Given the description of an element on the screen output the (x, y) to click on. 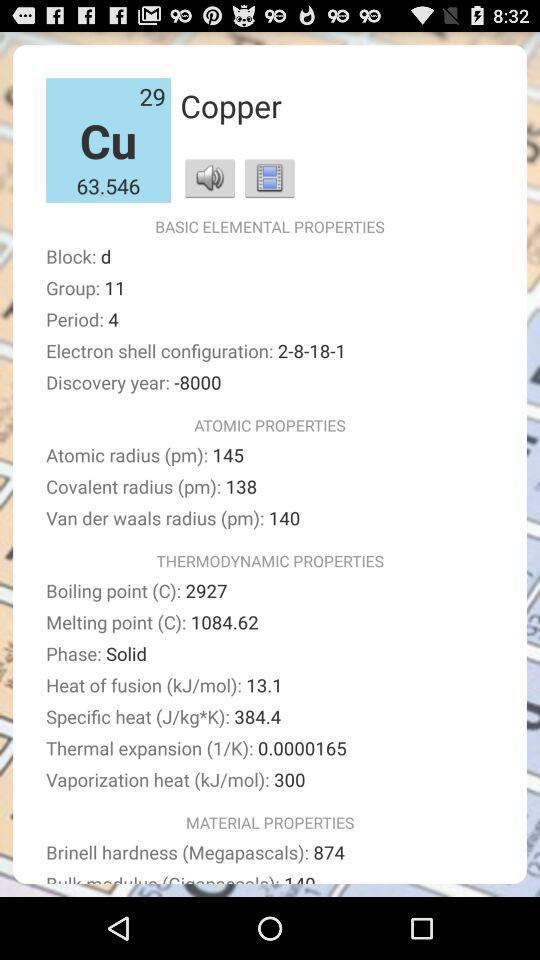
save this down (269, 177)
